Given the description of an element on the screen output the (x, y) to click on. 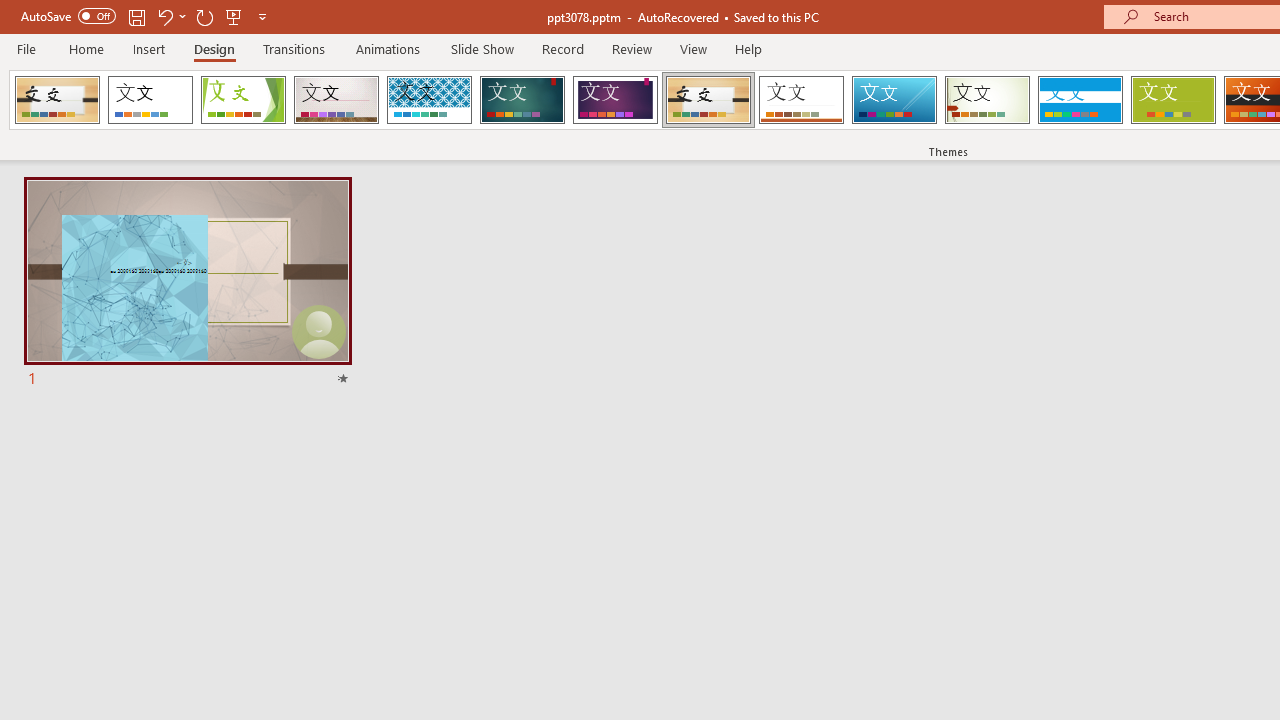
Gallery (336, 100)
Facet (243, 100)
Retrospect (801, 100)
Integral (429, 100)
Ion (522, 100)
Banded (1080, 100)
